Given the description of an element on the screen output the (x, y) to click on. 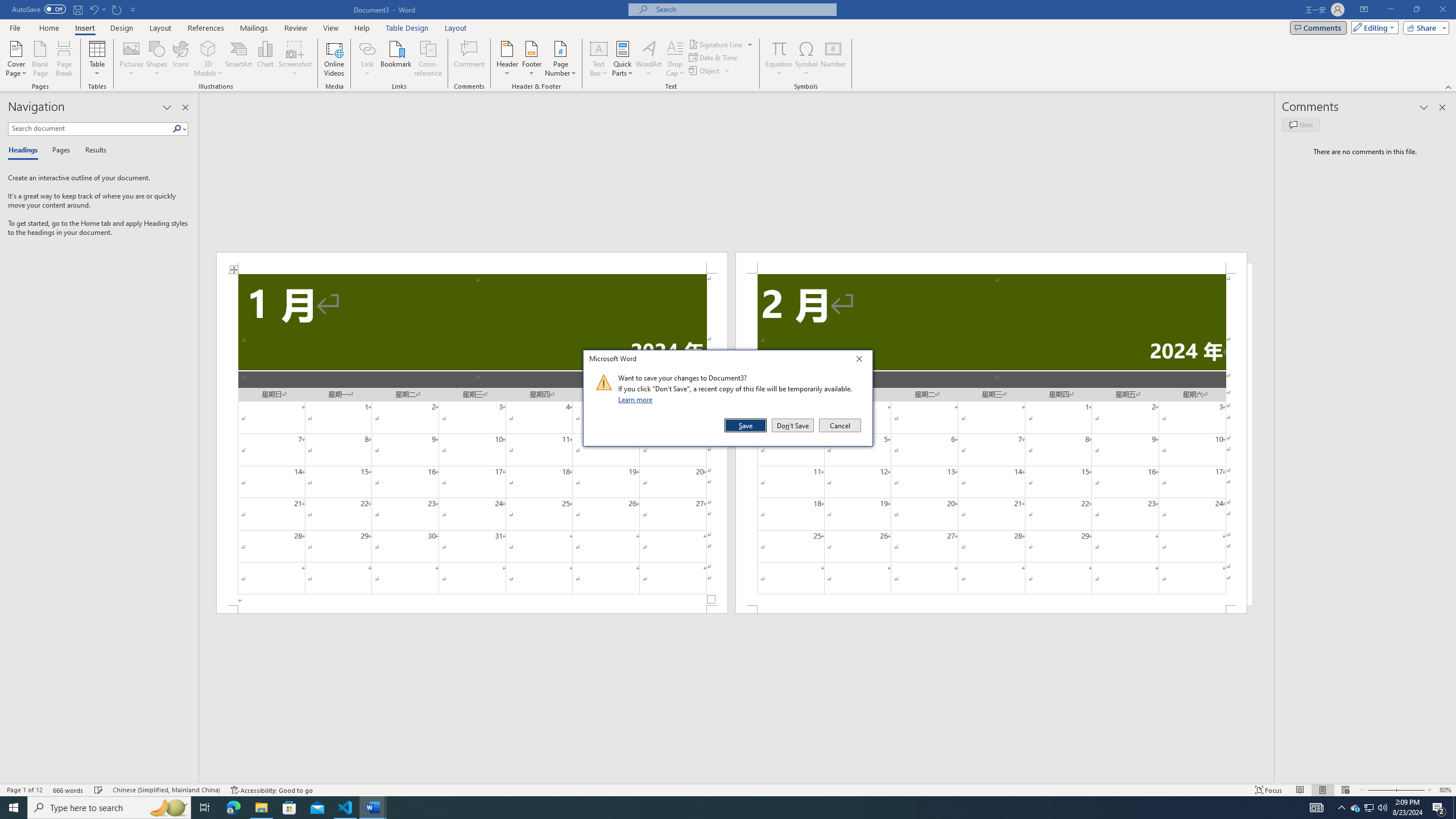
Drop Cap (674, 58)
